Given the description of an element on the screen output the (x, y) to click on. 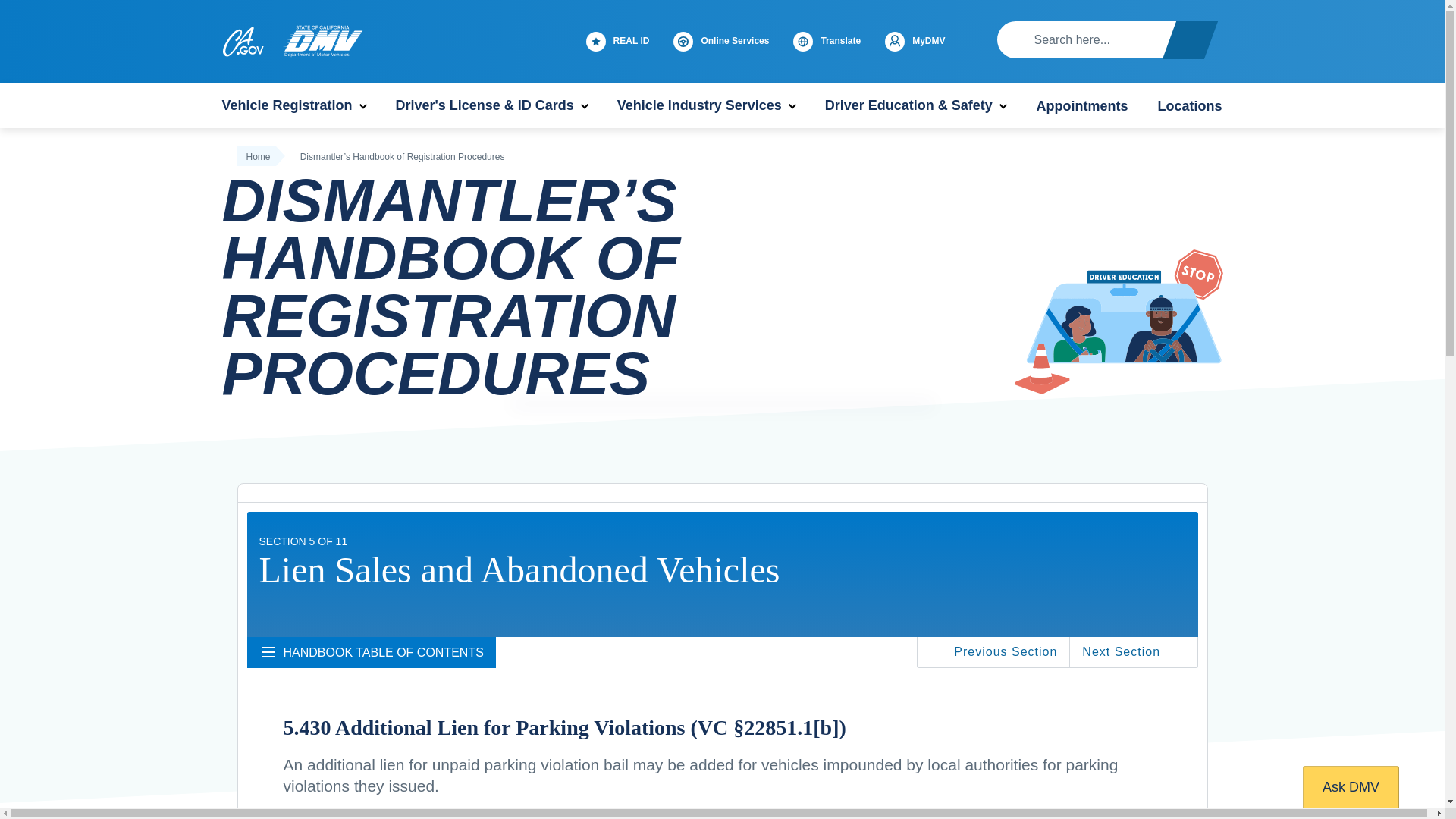
Submit search form (1190, 39)
State of California Department of Motor Vehicles (322, 40)
Translate (832, 41)
MyDMV (920, 41)
arrow-long-prev (936, 652)
Vehicle Registration (293, 104)
REAL ID (624, 41)
State of California (242, 41)
arrow-long-next (1177, 652)
Online Services (726, 41)
